Given the description of an element on the screen output the (x, y) to click on. 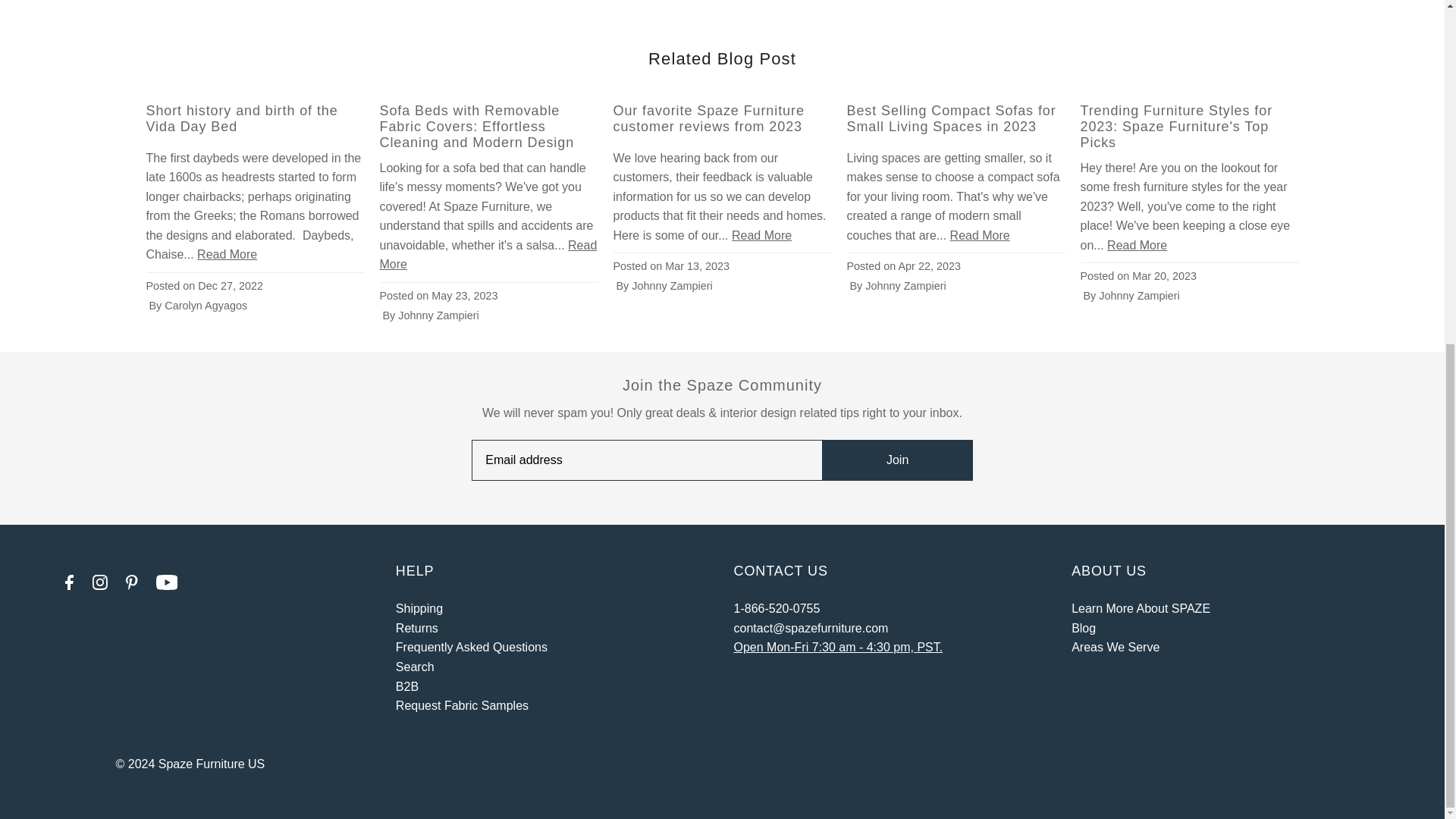
tel:1-866-520-0755 (777, 608)
